Given the description of an element on the screen output the (x, y) to click on. 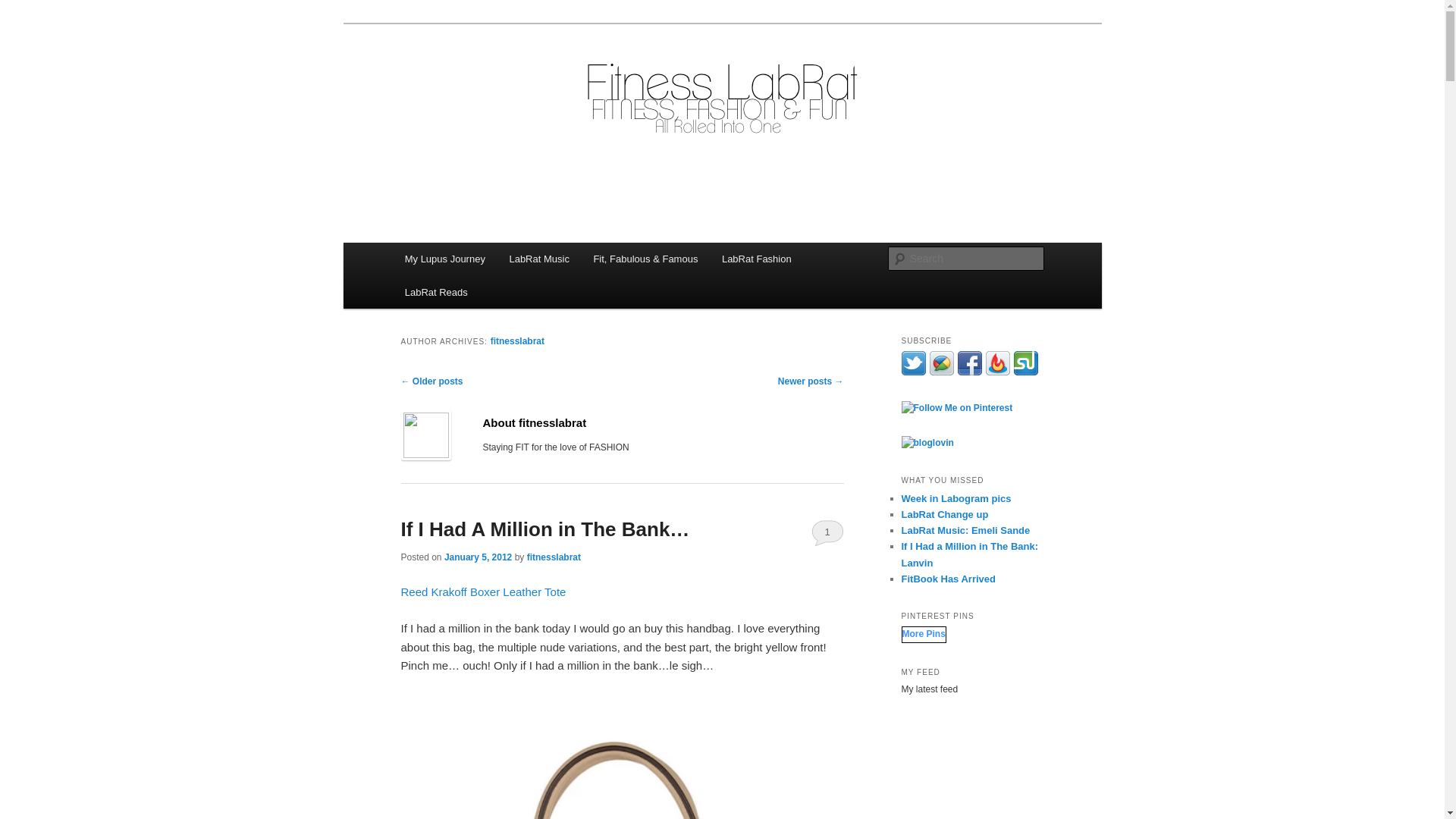
7:10 pm (478, 557)
Skip to secondary content (479, 261)
Search (24, 8)
fitnesslabrat.com (494, 78)
January 5, 2012 (478, 557)
LabRat Reads (436, 292)
fitnesslabrat (517, 340)
1 (827, 532)
My Lupus Journey (445, 258)
fitnesslabrat (553, 557)
